Given the description of an element on the screen output the (x, y) to click on. 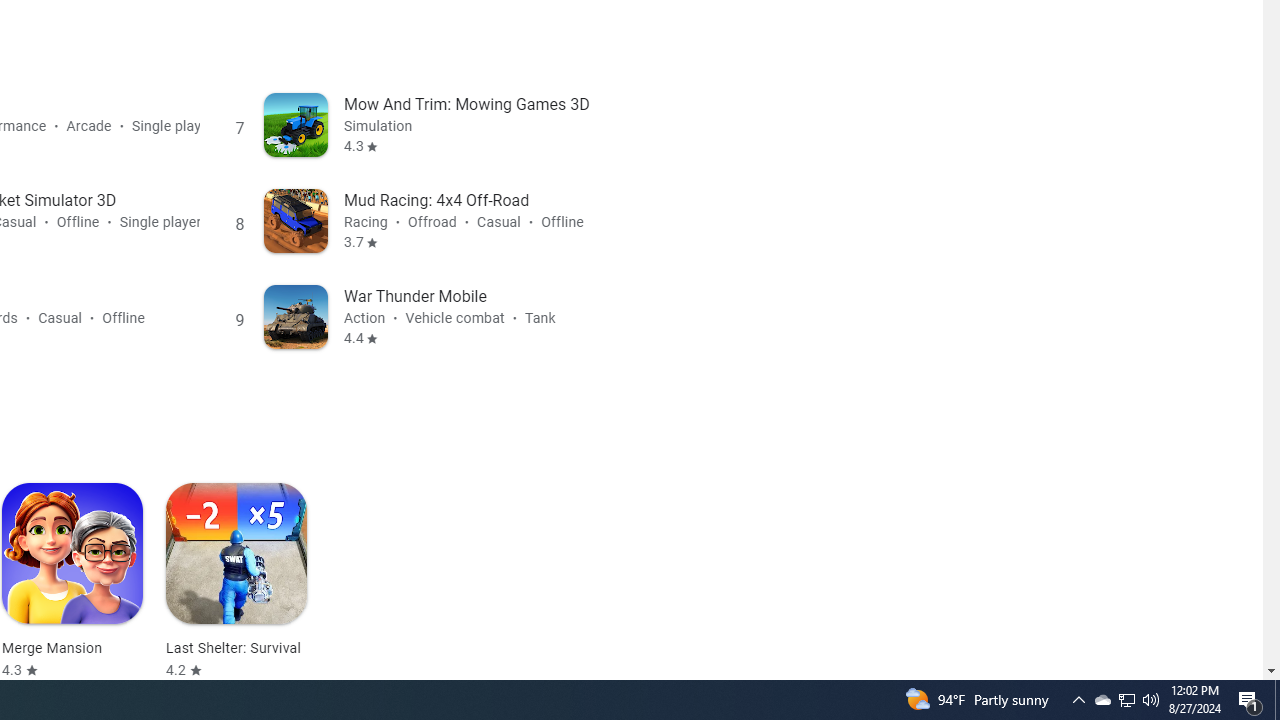
Merge Mansion Rated 4.3 stars out of five stars (72, 581)
Last Shelter: Survival Rated 4.2 stars out of five stars (236, 581)
